Given the description of an element on the screen output the (x, y) to click on. 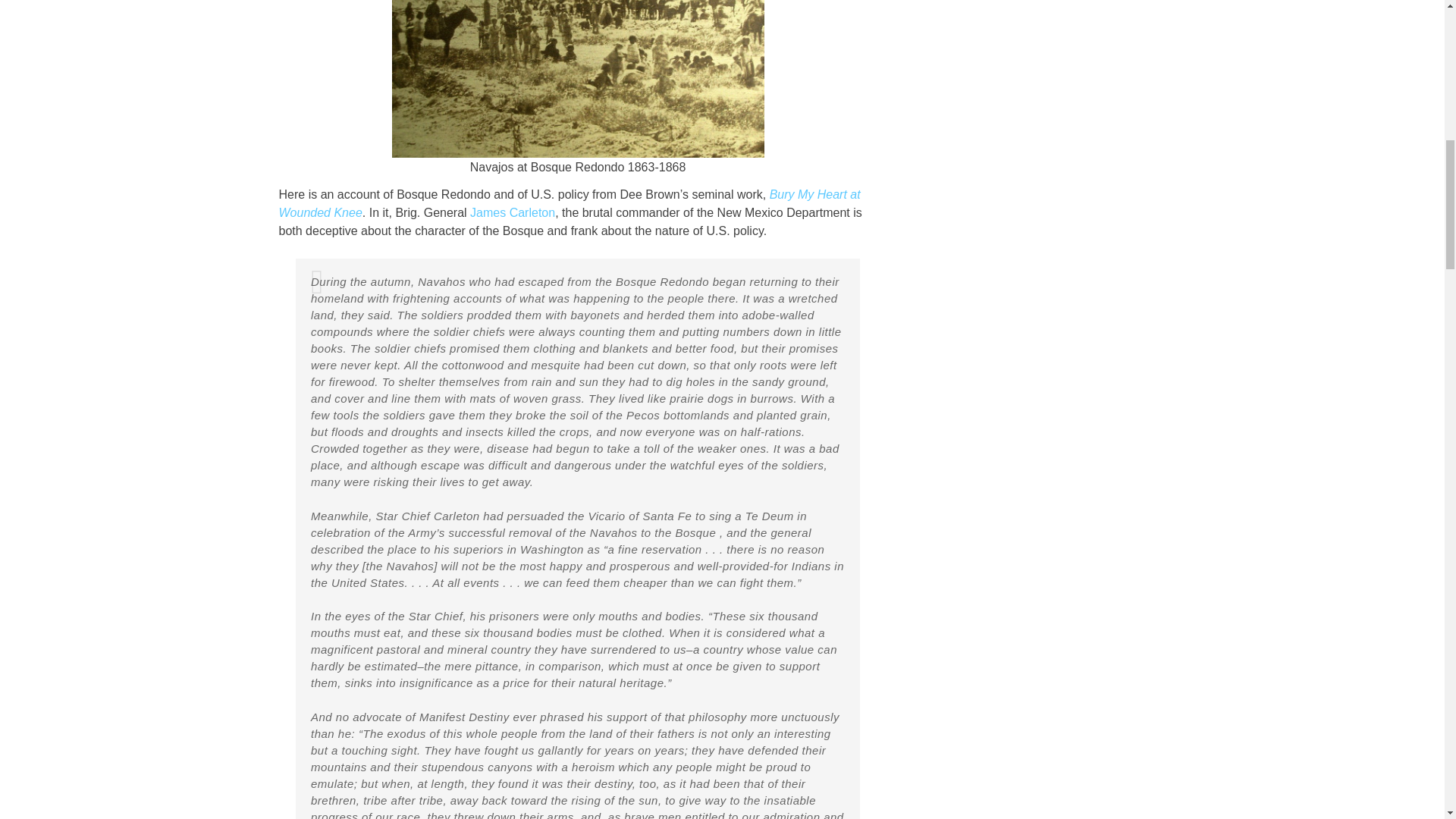
Bury My Heart at Wounded Knee (569, 203)
Navajos at Bosque Redondo 1863-1868 (576, 79)
James Henry Carleton (512, 212)
James Carleton (512, 212)
